Given the description of an element on the screen output the (x, y) to click on. 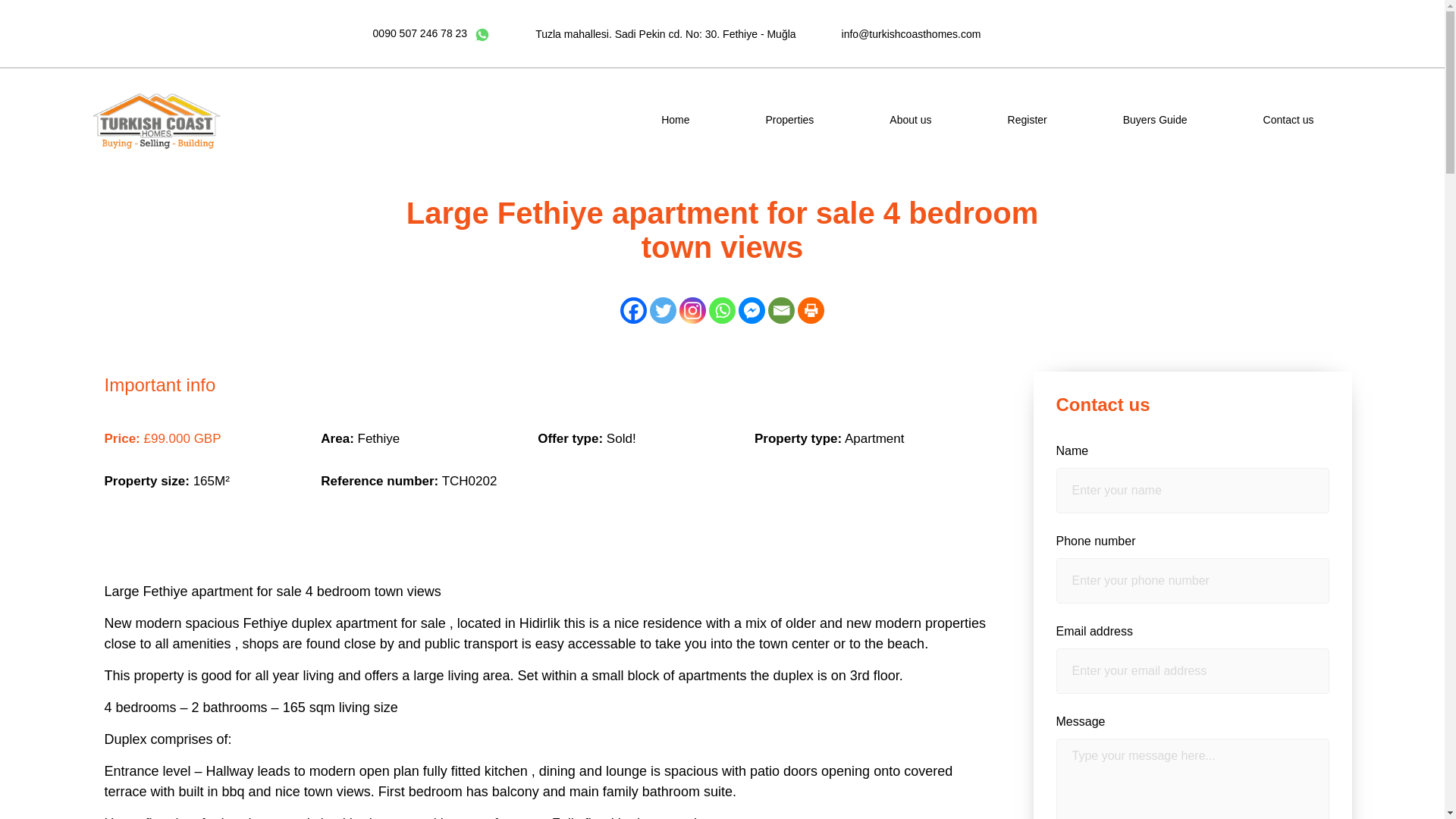
Home (674, 119)
Sold! (621, 438)
Fethiye (379, 438)
Contact us (1288, 119)
Properties (789, 119)
Apartment (874, 438)
About us (910, 119)
Register (1026, 119)
Twitter (663, 310)
Email (781, 310)
Print (810, 310)
Instagram (692, 310)
Whatsapp (722, 310)
0090 507 246 78 23 (419, 33)
Facebook (633, 310)
